Given the description of an element on the screen output the (x, y) to click on. 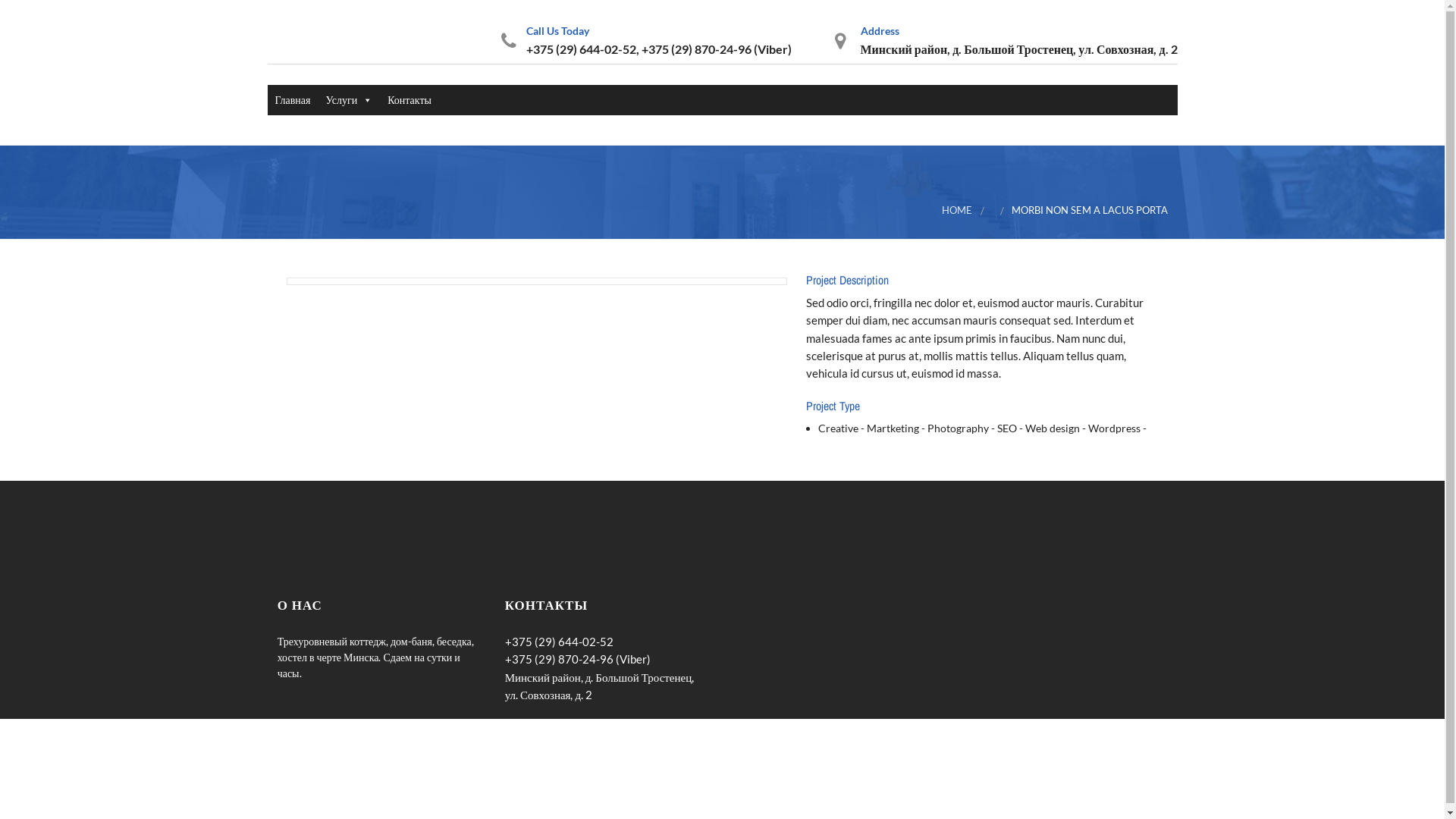
HOME Element type: text (956, 210)
